Given the description of an element on the screen output the (x, y) to click on. 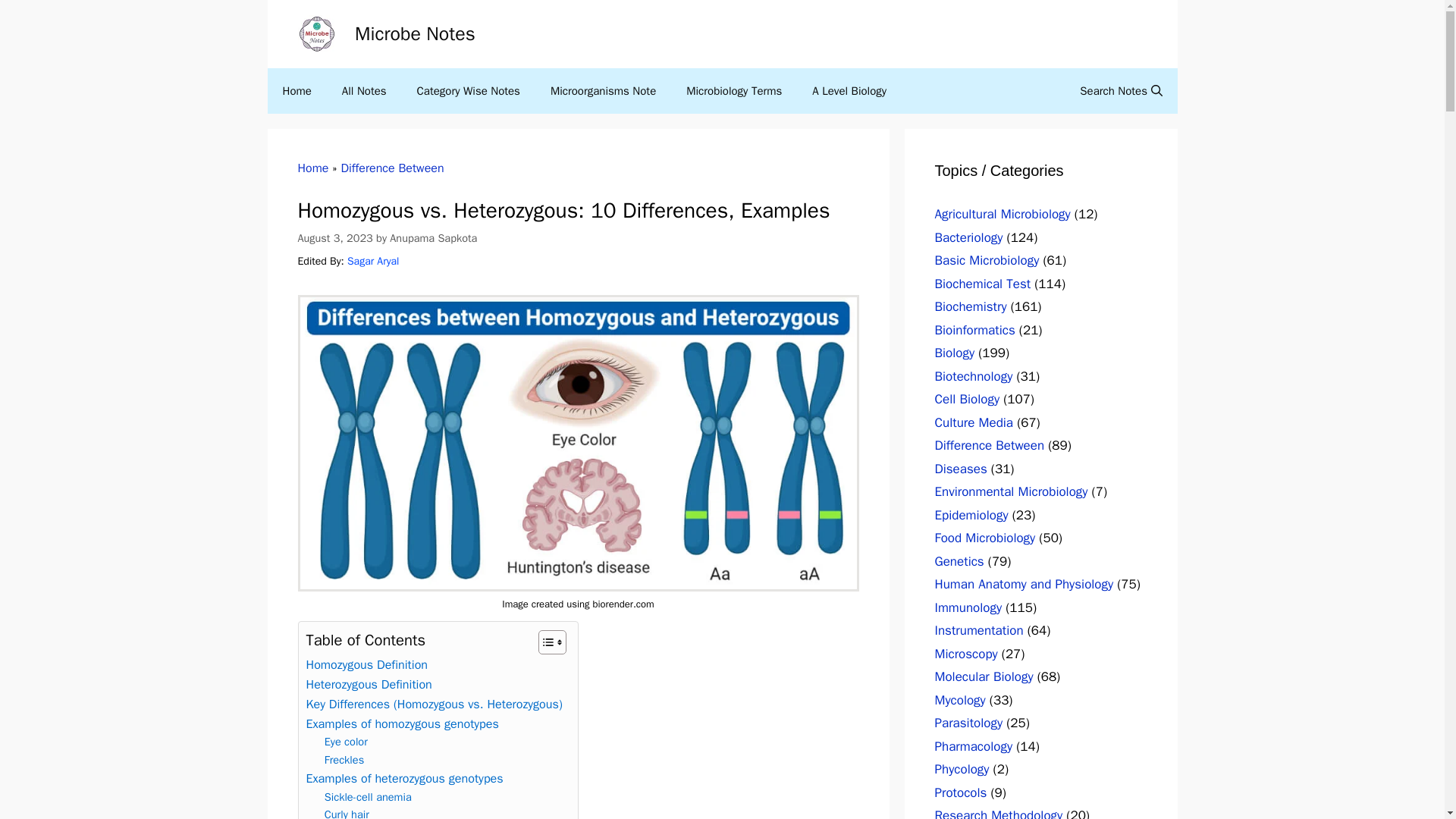
Biochemical Test (982, 283)
Examples of heterozygous genotypes (404, 778)
Freckles (344, 760)
Freckles (344, 760)
Bioinformatics (974, 329)
Homozygous Definition (366, 664)
Curly hair (346, 812)
All Notes (363, 90)
Homozygous Definition (366, 664)
Examples of homozygous genotypes (402, 723)
